Given the description of an element on the screen output the (x, y) to click on. 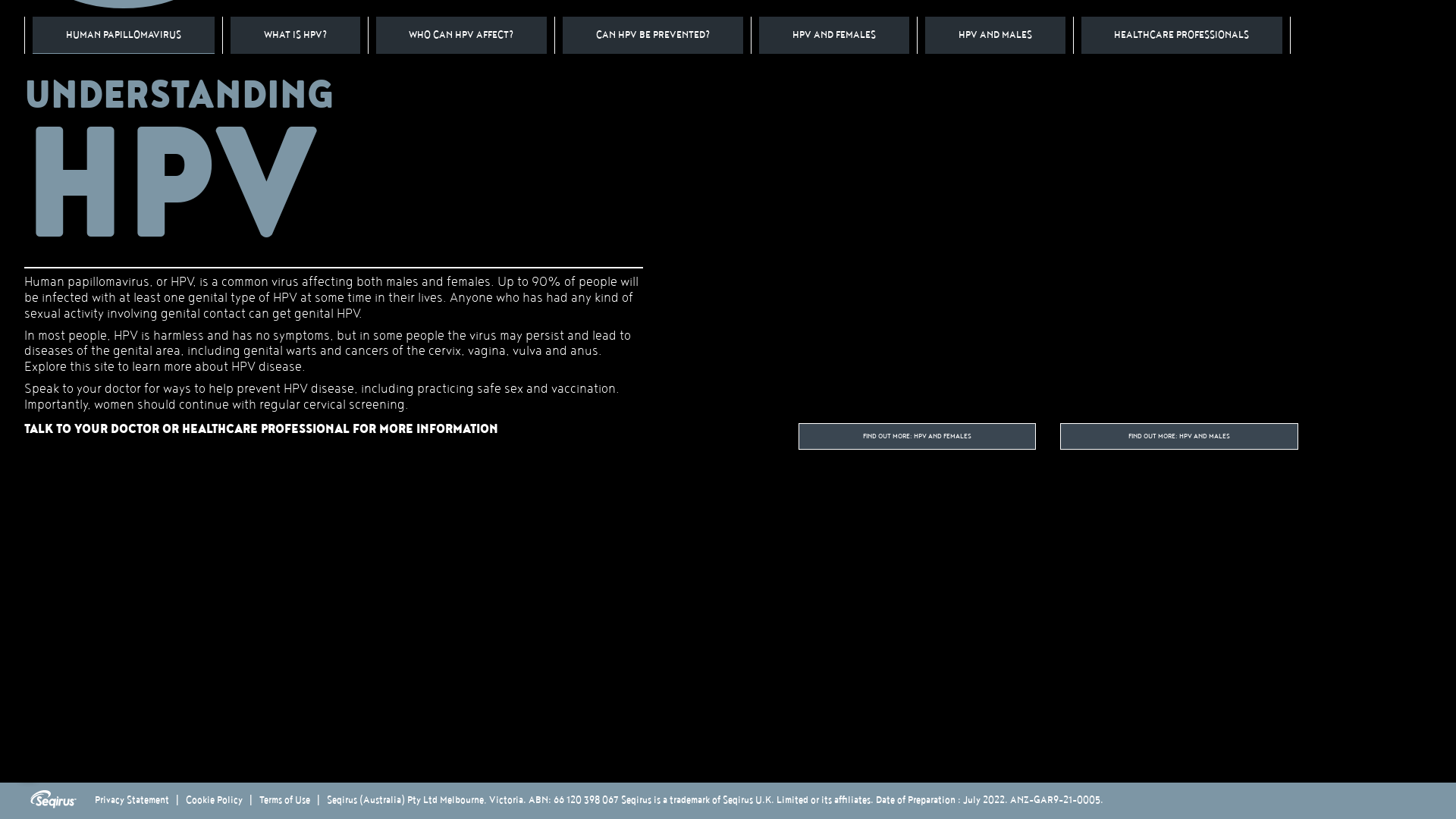
WHAT IS HPV? Element type: text (295, 34)
HUMAN PAPILLOMAVIRUS Element type: text (123, 34)
HPV AND FEMALES Element type: text (834, 34)
CAN HPV BE PREVENTED? Element type: text (652, 34)
HEALTHCARE PROFESSIONALS Element type: text (1182, 34)
WHO CAN HPV AFFECT? Element type: text (461, 34)
Terms of Use Element type: text (284, 800)
  Element type: text (1313, 35)
HPV AND MALES Element type: text (995, 34)
FIND OUT MORE: HPV AND FEMALES Element type: text (917, 436)
Privacy Statement Element type: text (131, 800)
FIND OUT MORE: HPV AND MALES Element type: text (1179, 436)
Cookie Policy Element type: text (213, 800)
